Given the description of an element on the screen output the (x, y) to click on. 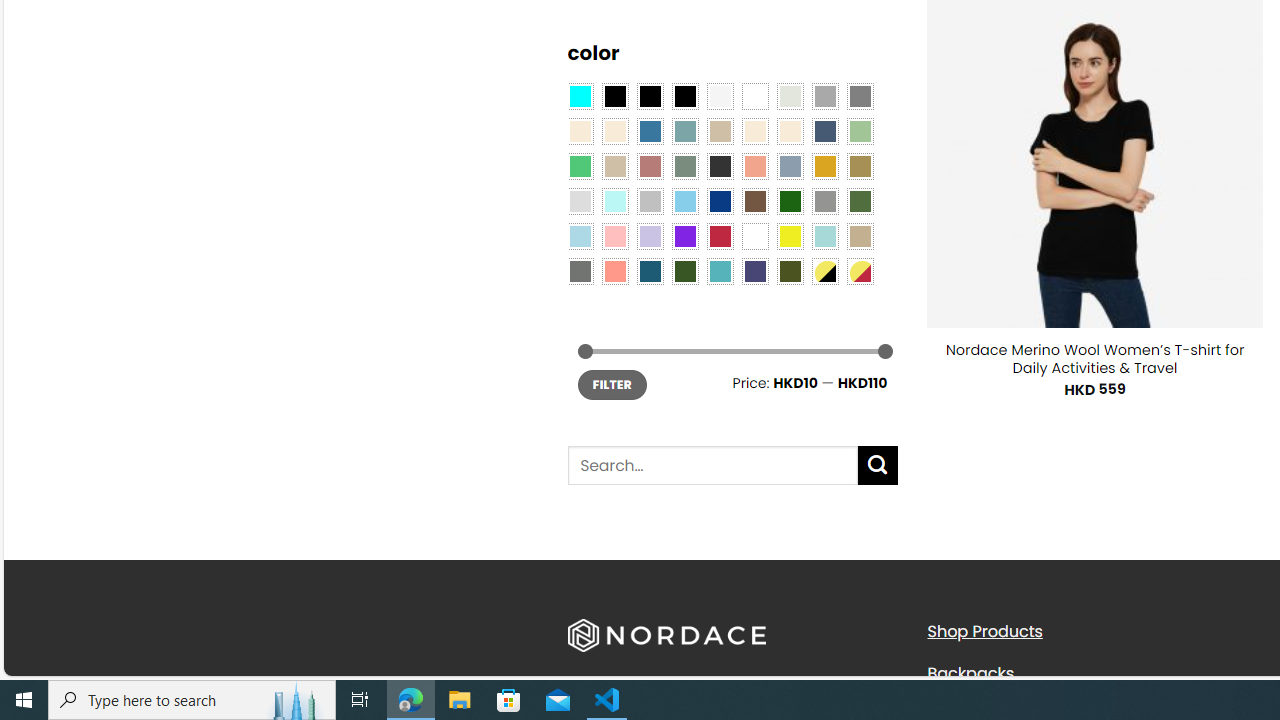
Sage (684, 165)
Light Gray (579, 200)
Light Green (859, 131)
Black (650, 95)
Rose (650, 165)
All Black (614, 95)
Beige (579, 131)
Dark Gray (824, 95)
Pink (614, 236)
Peach Pink (614, 270)
Gray (824, 200)
White (755, 236)
Emerald Green (579, 165)
Teal (719, 270)
Dark Green (789, 200)
